Given the description of an element on the screen output the (x, y) to click on. 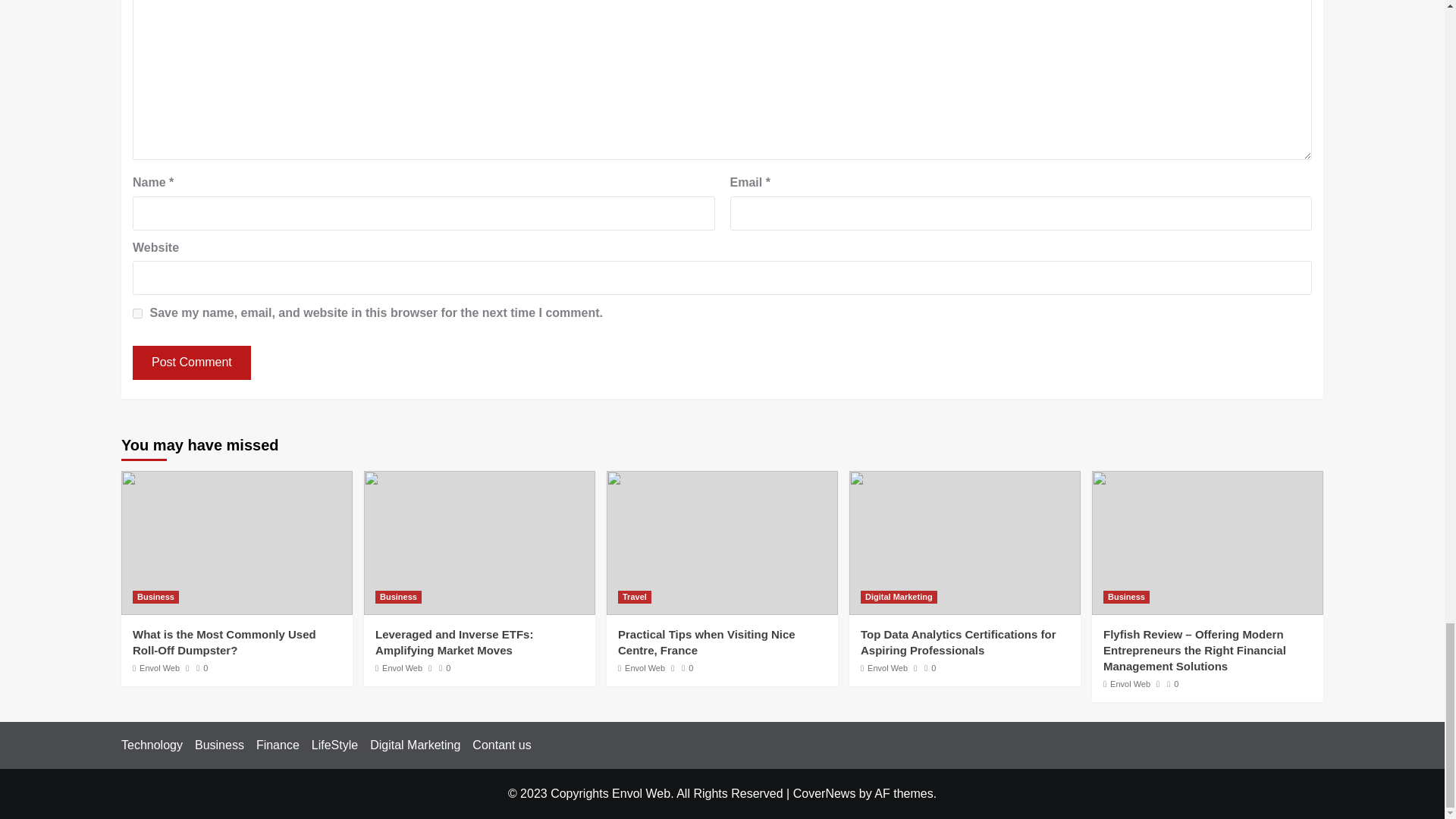
yes (137, 313)
Post Comment (191, 362)
